Given the description of an element on the screen output the (x, y) to click on. 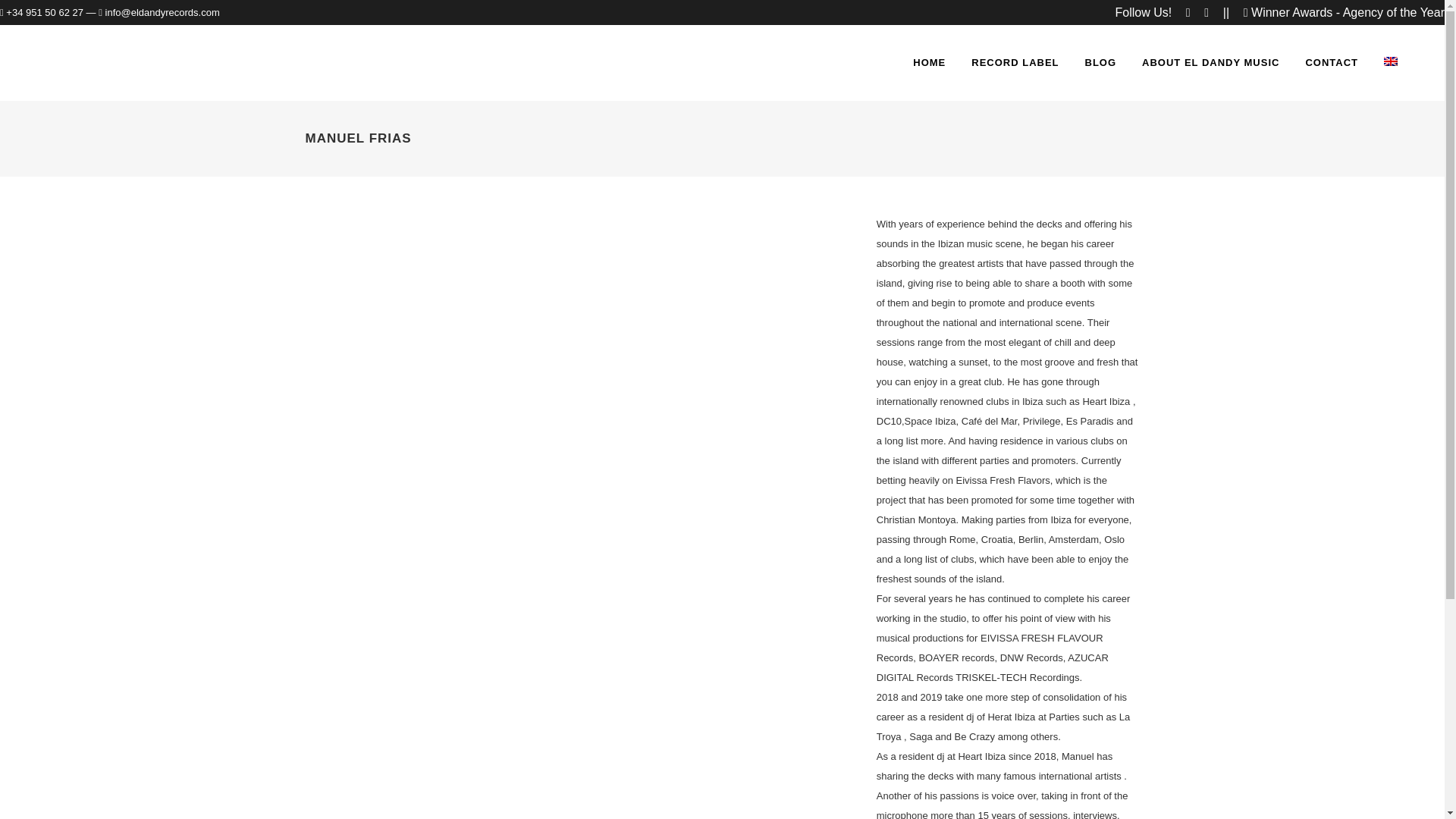
CONTACT (1331, 62)
Privacy and Cookies Policy (721, 768)
ABOUT EL DANDY MUSIC (1210, 62)
RECORD LABEL (1014, 62)
